Given the description of an element on the screen output the (x, y) to click on. 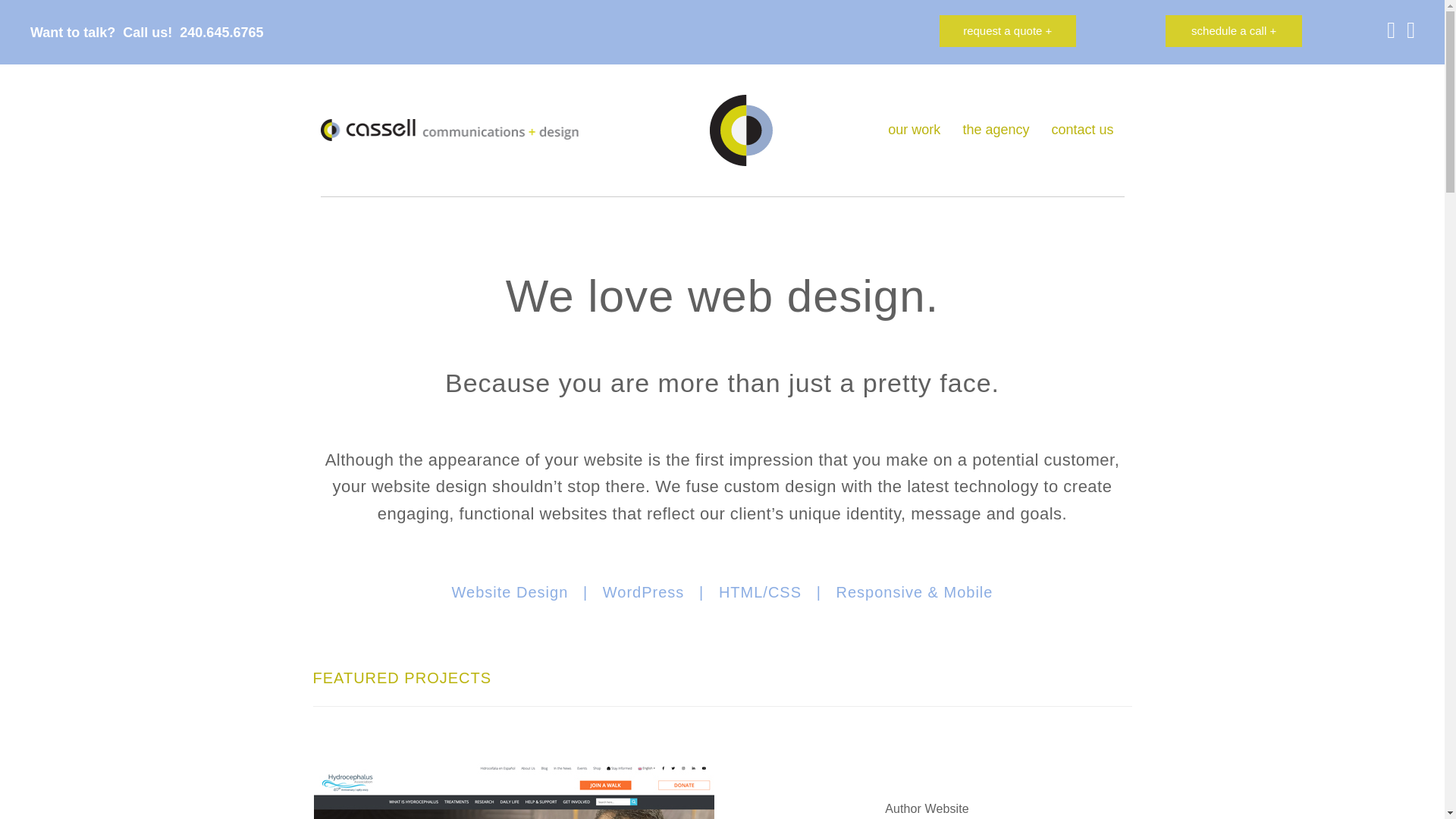
logo (449, 129)
the agency (995, 130)
contact us (1082, 130)
our work (913, 130)
